Given the description of an element on the screen output the (x, y) to click on. 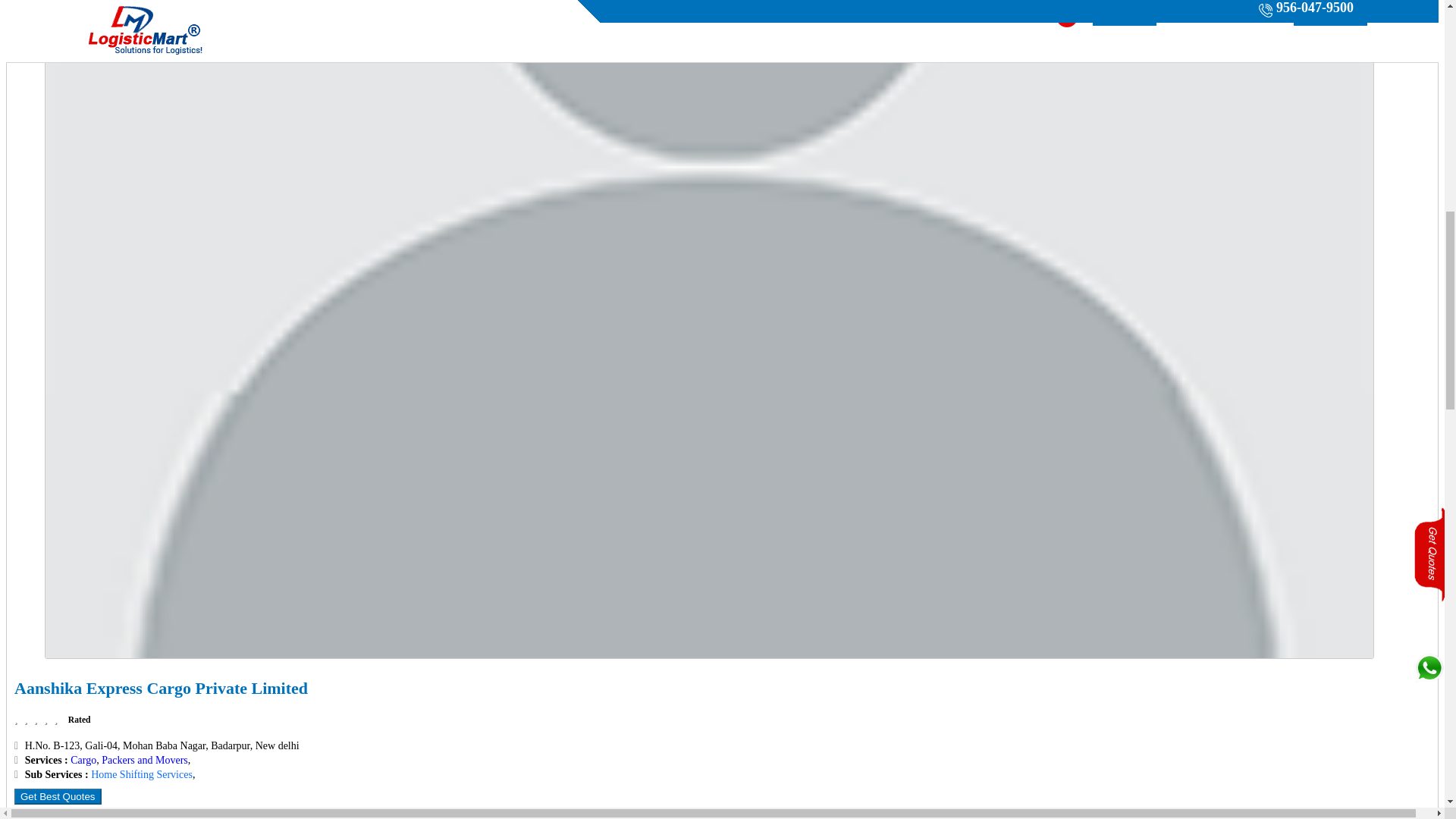
Get Best Quotes (57, 796)
Cargo (82, 759)
Home Shifting Services (141, 774)
Packers and Movers (144, 759)
